Given the description of an element on the screen output the (x, y) to click on. 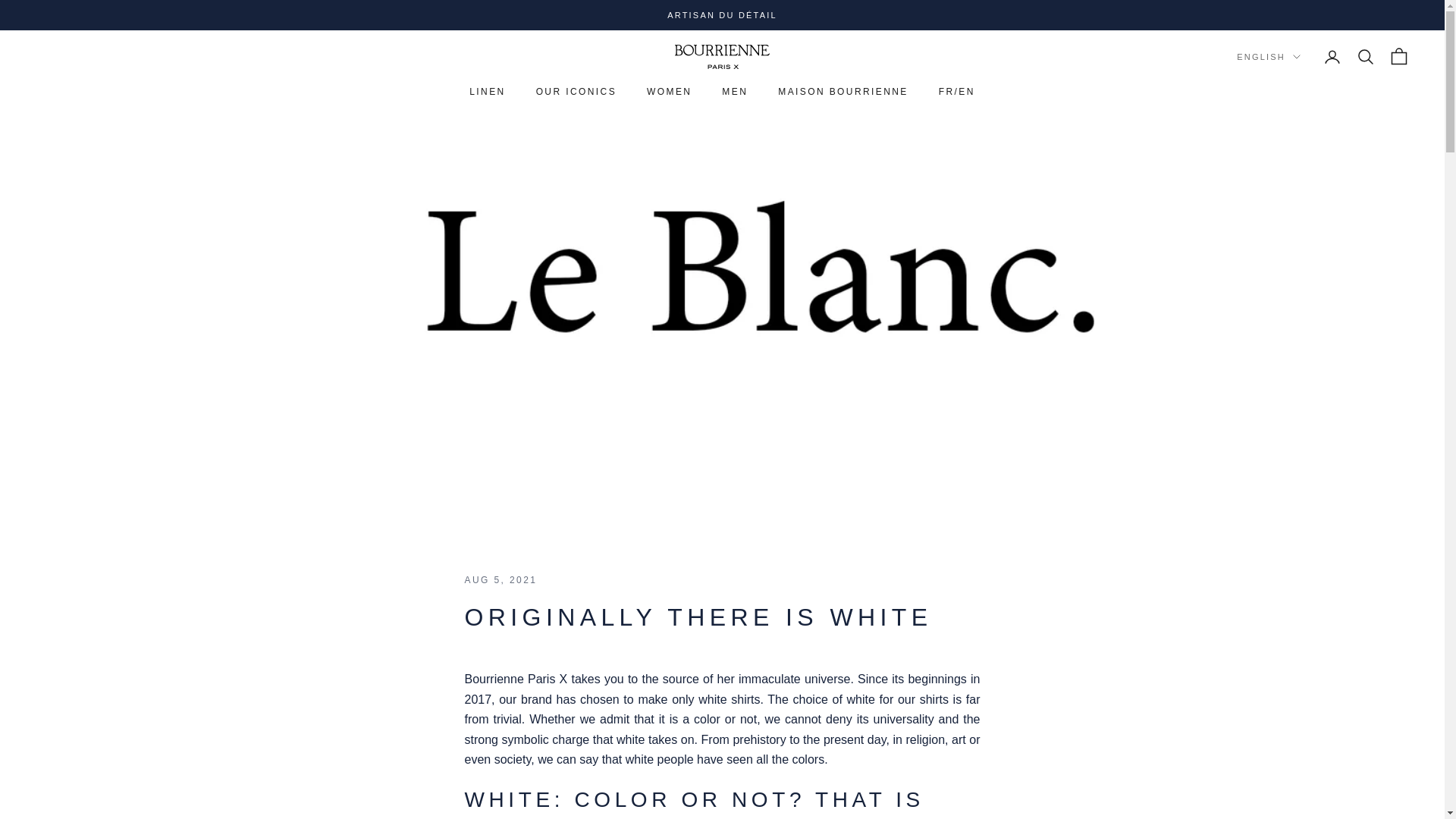
Open account page (1331, 56)
Open search (1365, 56)
Bourrienne Paris X (722, 56)
ENGLISH (1268, 56)
Open cart (1398, 56)
